Given the description of an element on the screen output the (x, y) to click on. 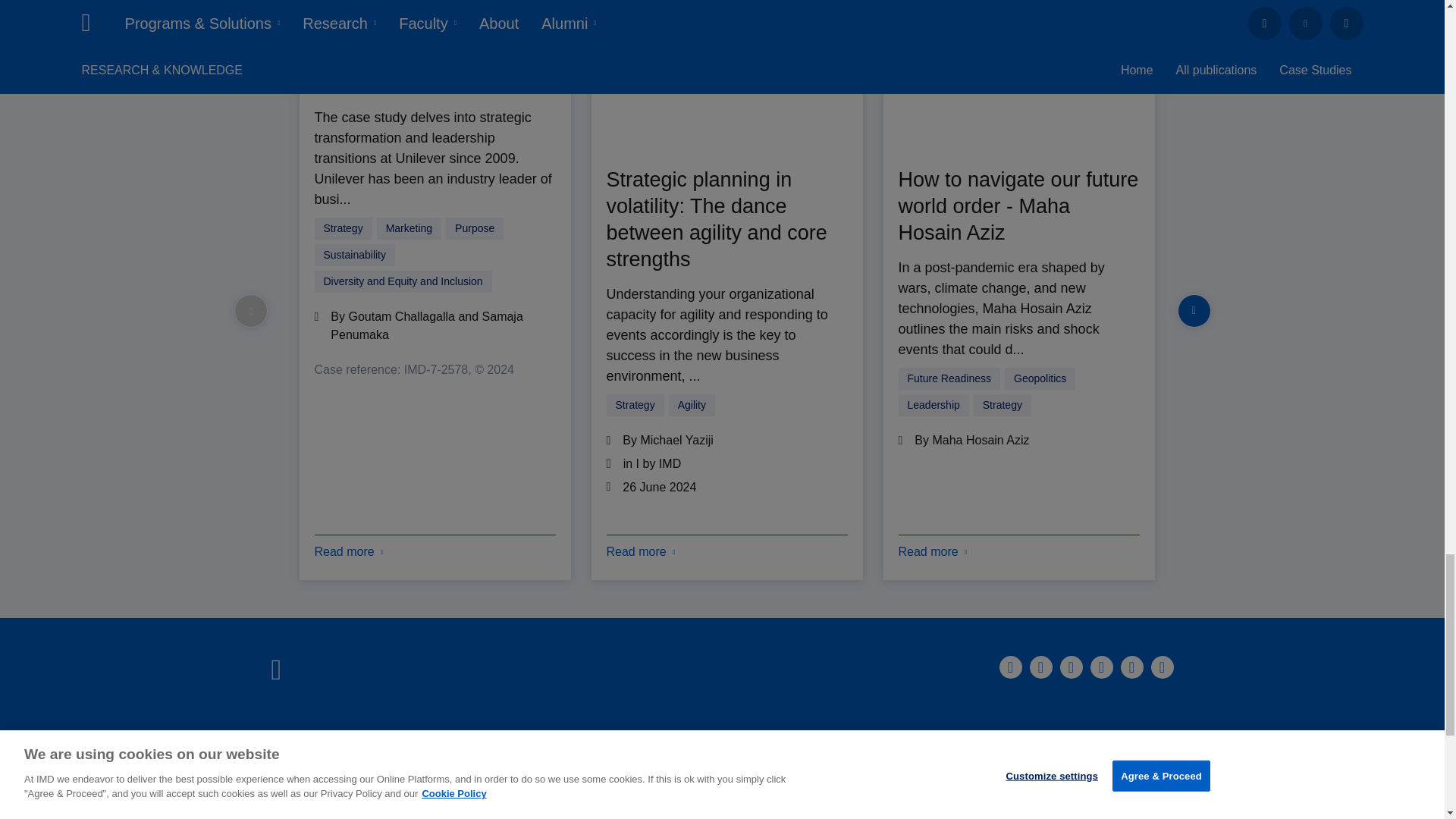
Flickr (1162, 667)
LinkedIn (1010, 667)
Facebook (1040, 667)
Instagram (1071, 667)
YouTube (1131, 667)
Twitter (1101, 667)
